Given the description of an element on the screen output the (x, y) to click on. 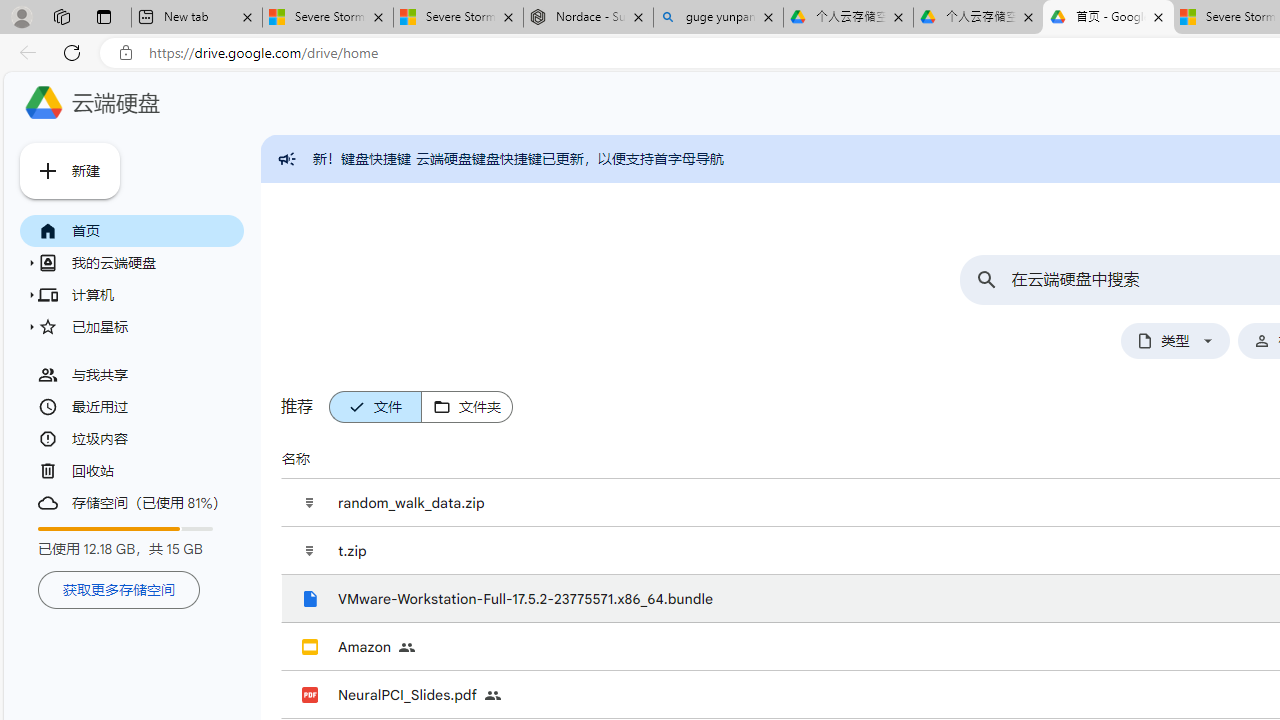
Class: f8nwhd-qb23S-kBDsod f8nwhd-qb23S-b9nz9e-Rd (441, 407)
